Given the description of an element on the screen output the (x, y) to click on. 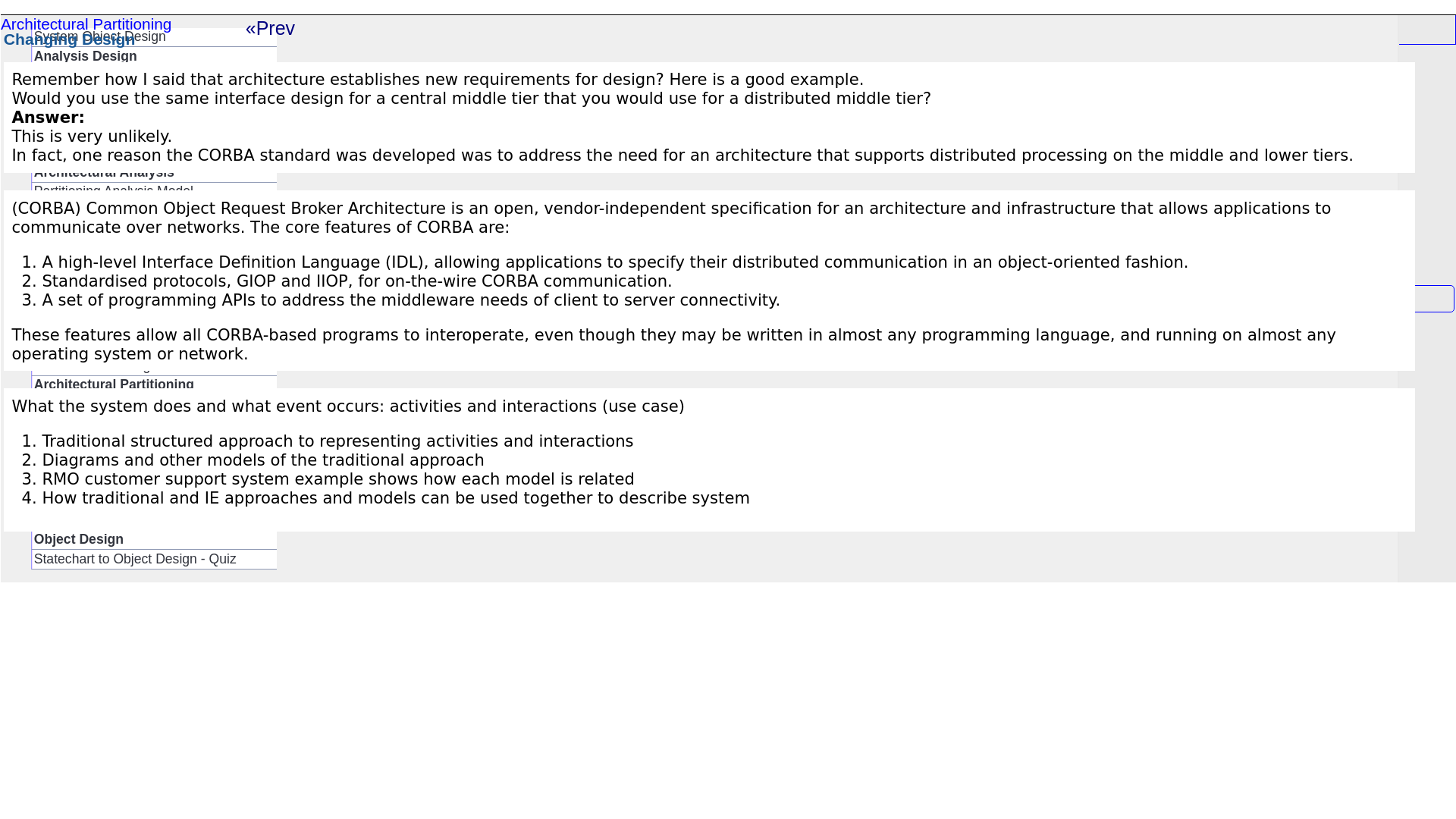
Object Design (154, 539)
Review Project Life Cycle (154, 75)
Additional ntier Architectures (154, 481)
Package Modeling Purpose (154, 288)
Statechart to Object Design - Quiz (154, 558)
Transition Analysis Design (154, 94)
Architectural Partitioning (154, 384)
Architectural Analysis (154, 171)
Design Strategies (154, 404)
Partitioning Process Goal (154, 210)
